Given the description of an element on the screen output the (x, y) to click on. 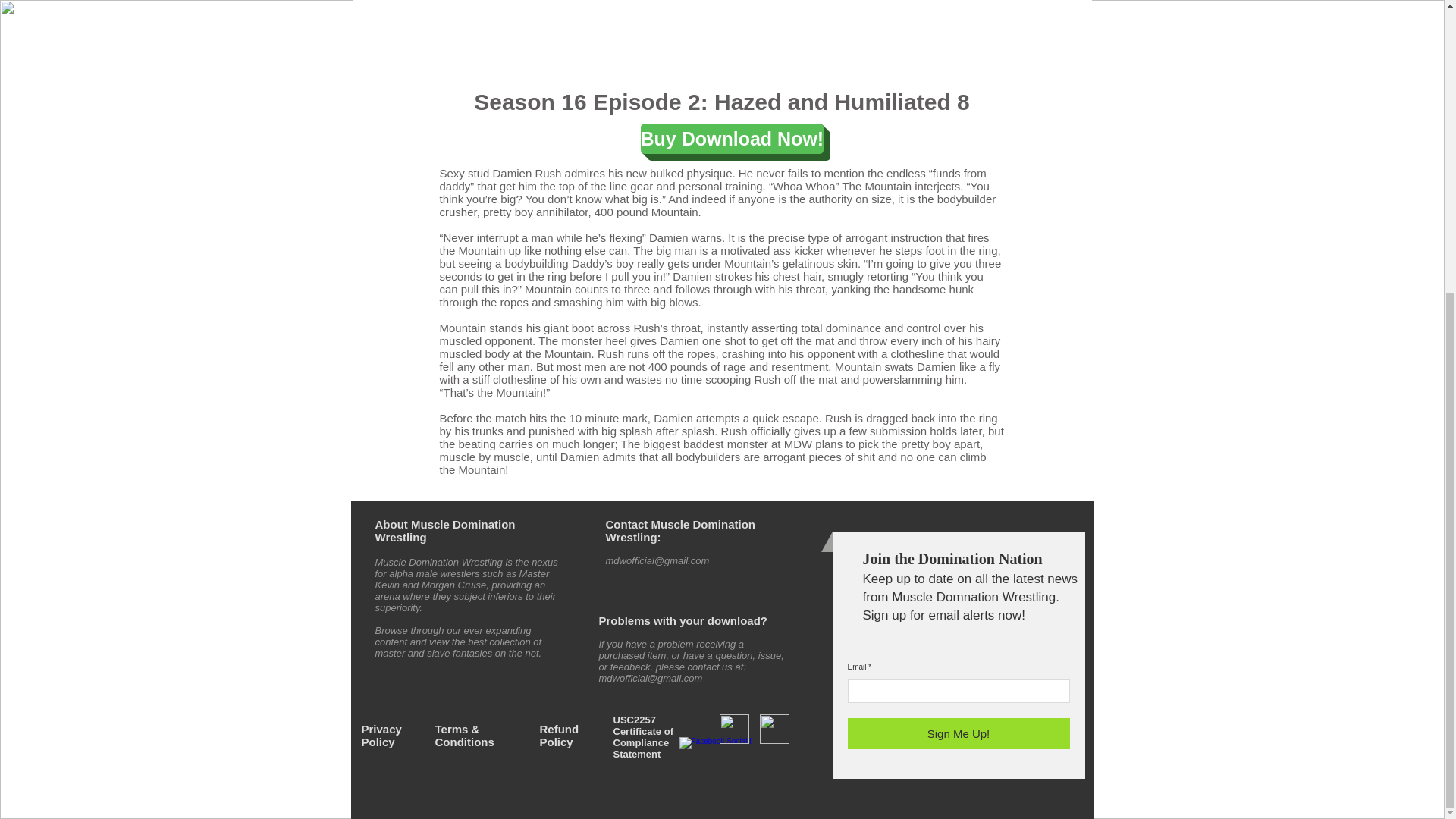
Buy Download Now! (732, 138)
Chat via Skype (757, 548)
